Given the description of an element on the screen output the (x, y) to click on. 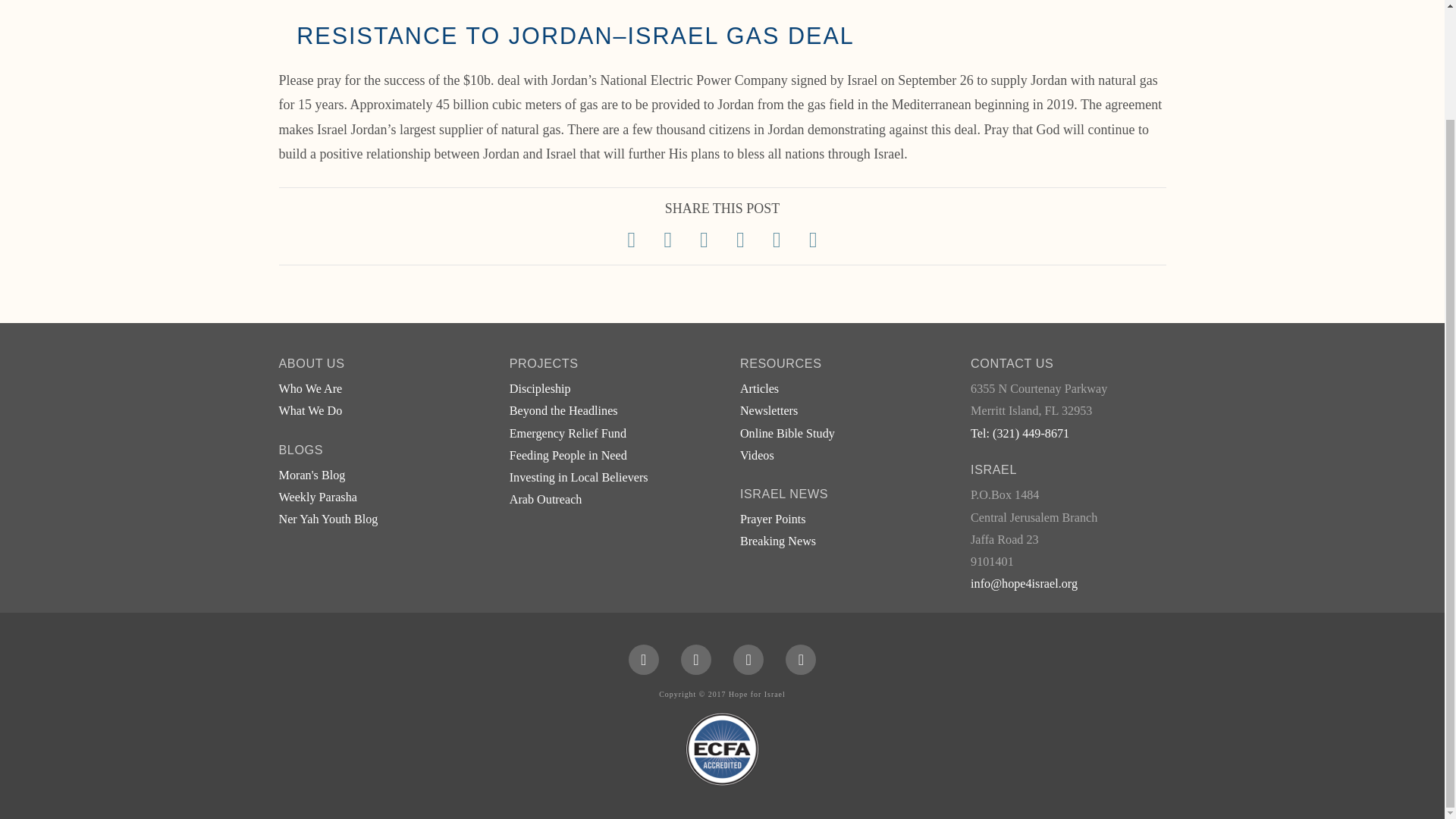
Facebook (643, 659)
YouTube (747, 659)
Instagram (800, 659)
